Given the description of an element on the screen output the (x, y) to click on. 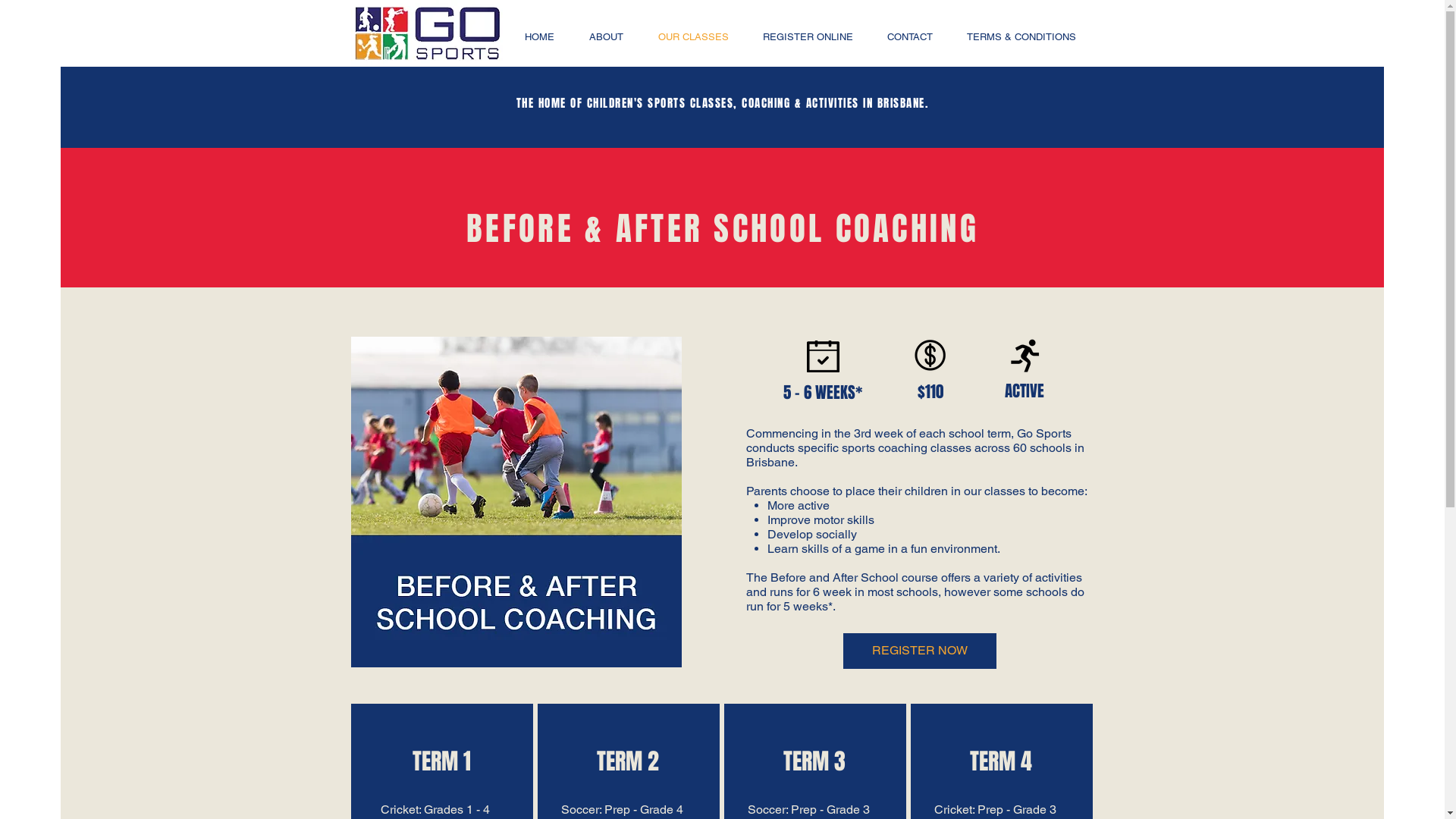
ABOUT Element type: text (605, 36)
CONTACT Element type: text (910, 36)
HOME Element type: text (538, 36)
REGISTER ONLINE Element type: text (808, 36)
OUR CLASSES Element type: text (692, 36)
TERMS & CONDITIONS Element type: text (1020, 36)
REGISTER NOW Element type: text (919, 650)
